Given the description of an element on the screen output the (x, y) to click on. 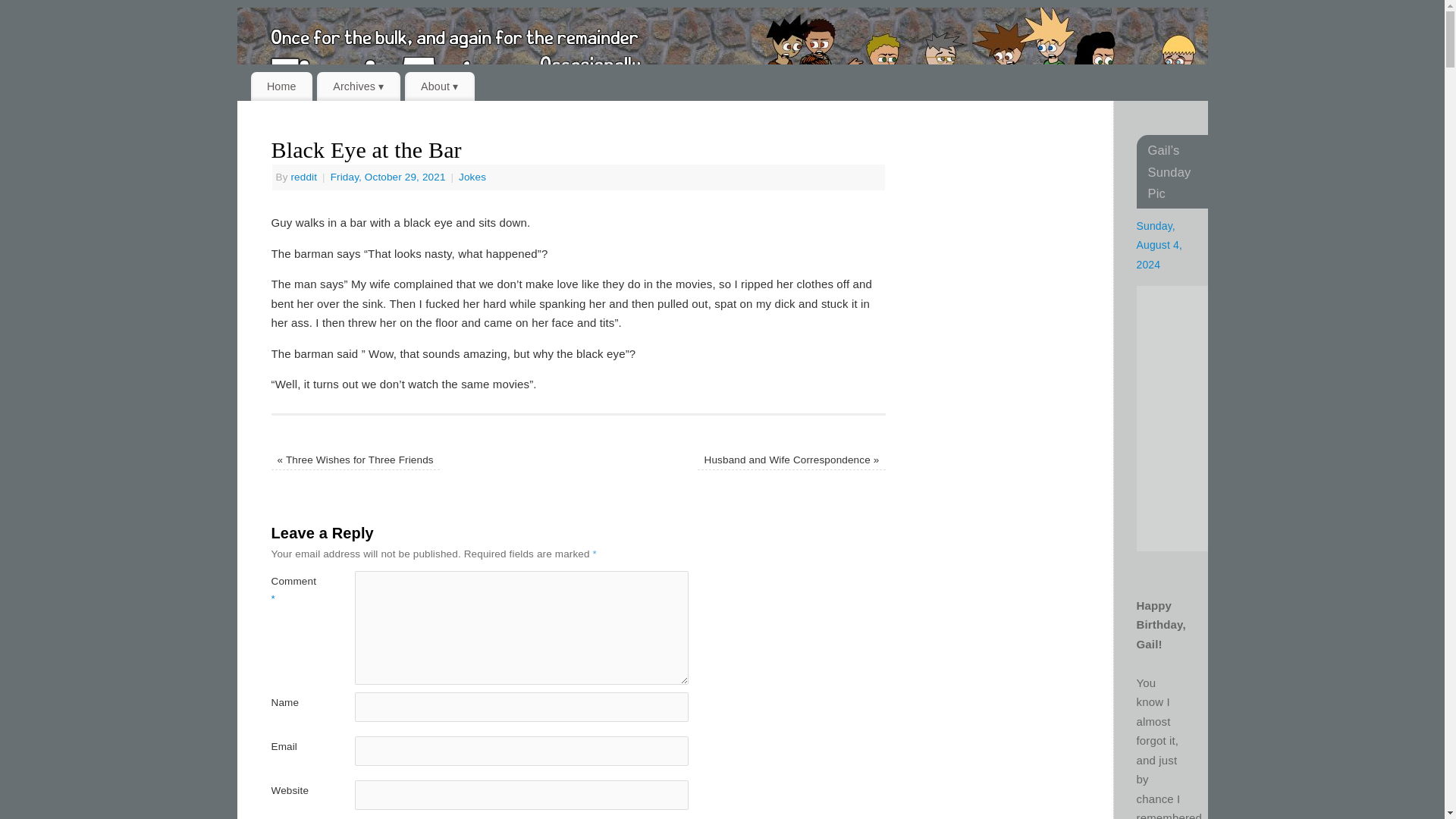
Flush Twice (736, 64)
12:00 am (389, 176)
Sunday, August 4, 2024 (1158, 245)
Jokes (472, 176)
Home (280, 86)
reddit (303, 176)
Friday, October 29, 2021 (389, 176)
View all posts by reddit (303, 176)
 She's still got it!  (1260, 418)
